Given the description of an element on the screen output the (x, y) to click on. 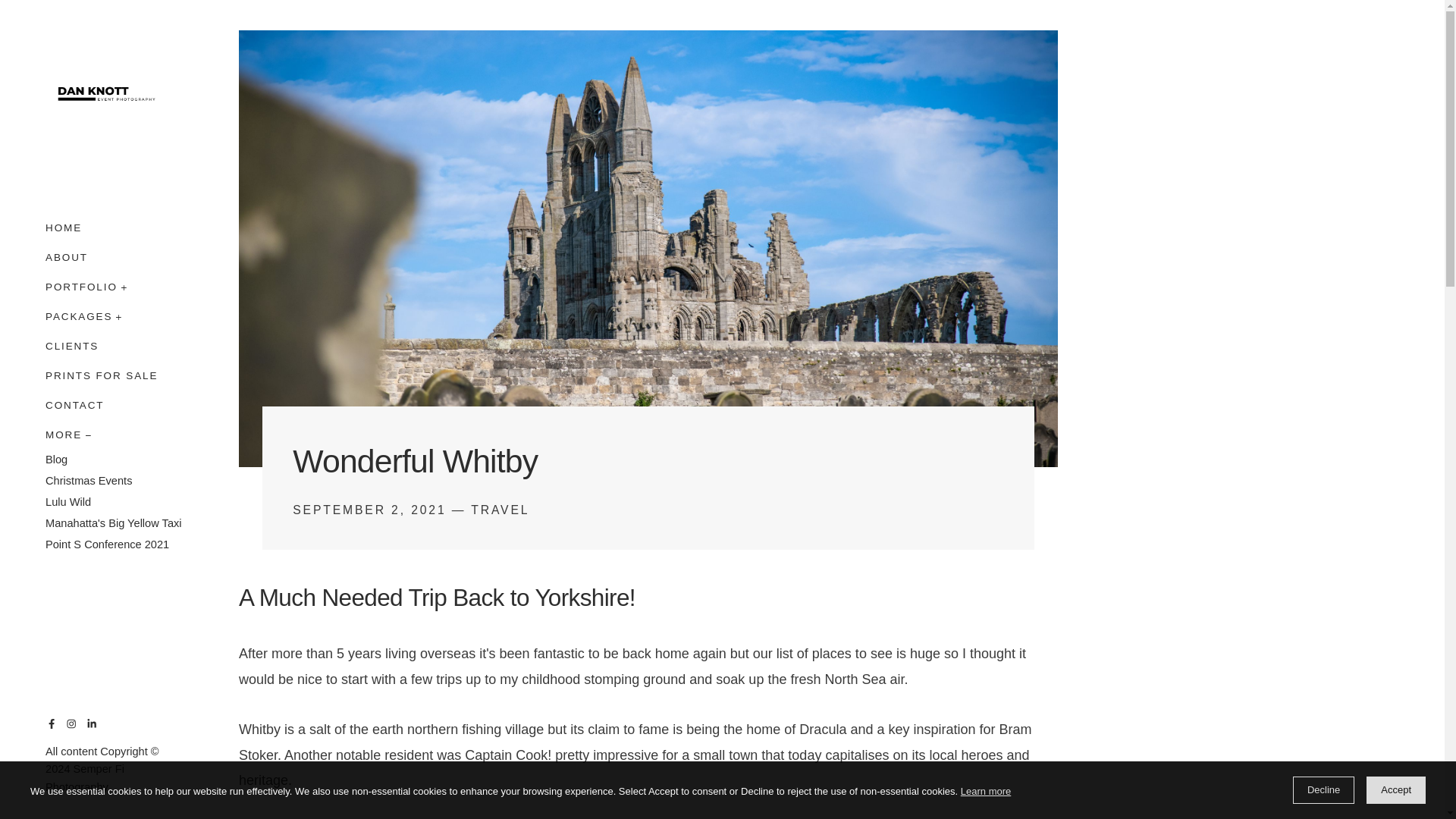
Learn more (985, 791)
CONTACT (74, 405)
HOME (63, 230)
PACKAGES (78, 316)
PORTFOLIO (81, 286)
Decline (1323, 789)
PRINTS FOR SALE (101, 375)
CLIENTS (72, 345)
ABOUT (66, 257)
MORE (63, 430)
Accept (1396, 789)
